Given the description of an element on the screen output the (x, y) to click on. 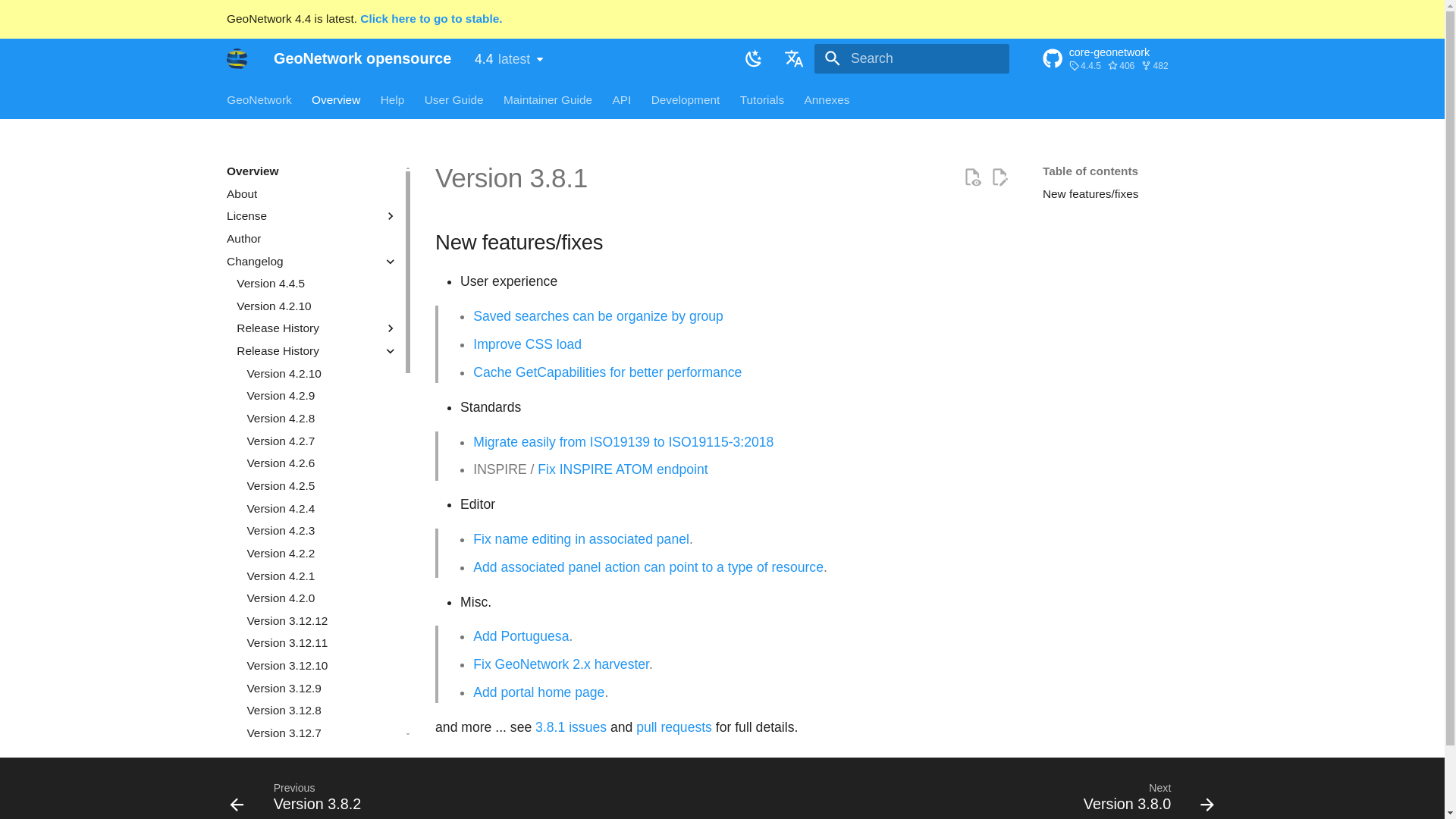
Switch to dark mode (753, 58)
Version 4.2.10 (316, 305)
API (620, 99)
GeoNetwork (259, 99)
Changelog (301, 261)
Version 4.2.6 (321, 462)
4.4latest (508, 59)
Overview (312, 171)
User Guide (454, 99)
Version 4.2.5 (321, 485)
Tutorials (761, 99)
View source of this page (971, 177)
Maintainer Guide (547, 99)
License (312, 215)
Version 4.2.10 (321, 373)
